Given the description of an element on the screen output the (x, y) to click on. 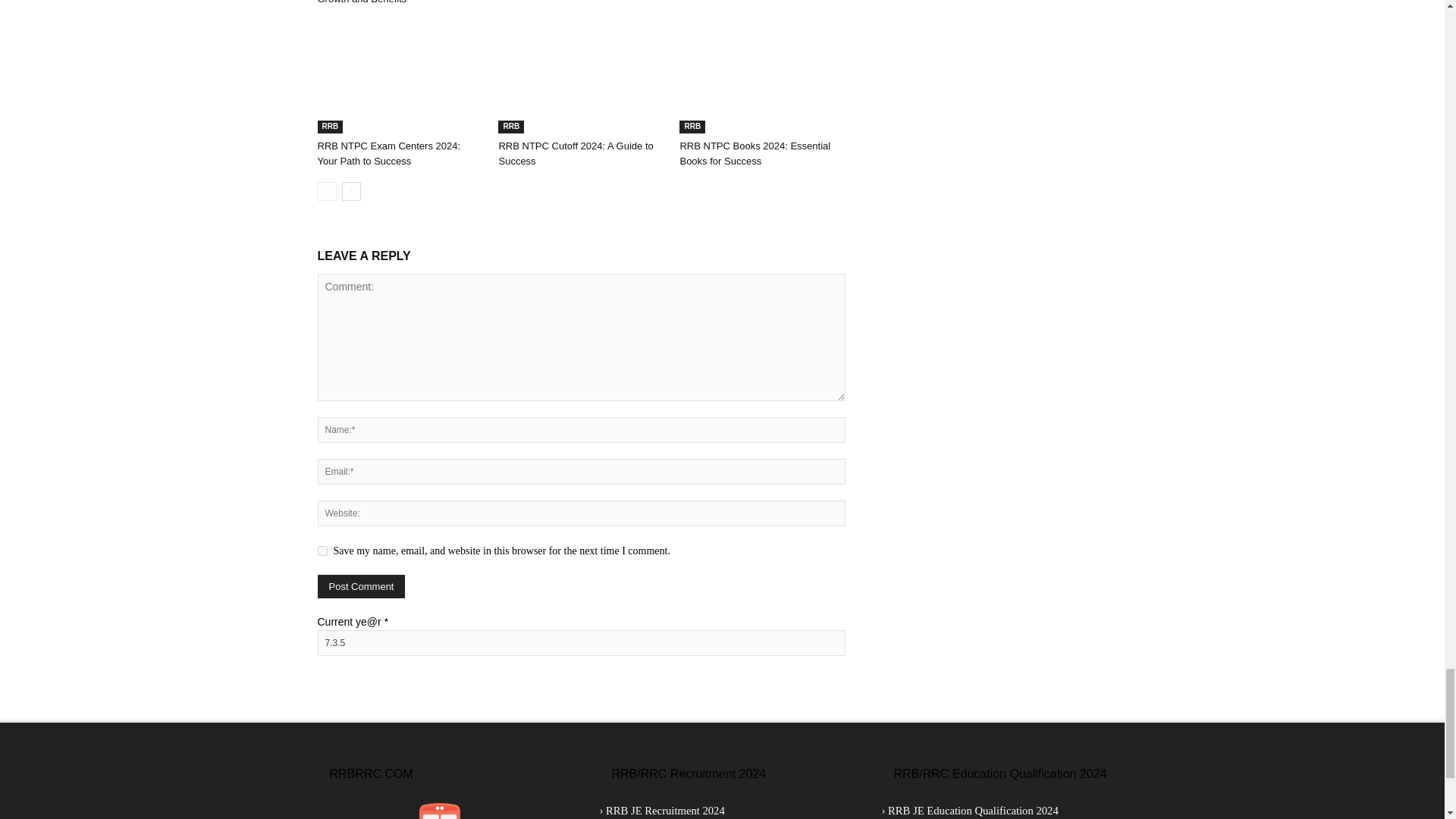
yes (321, 551)
Post Comment (360, 586)
7.3.5 (580, 642)
